Given the description of an element on the screen output the (x, y) to click on. 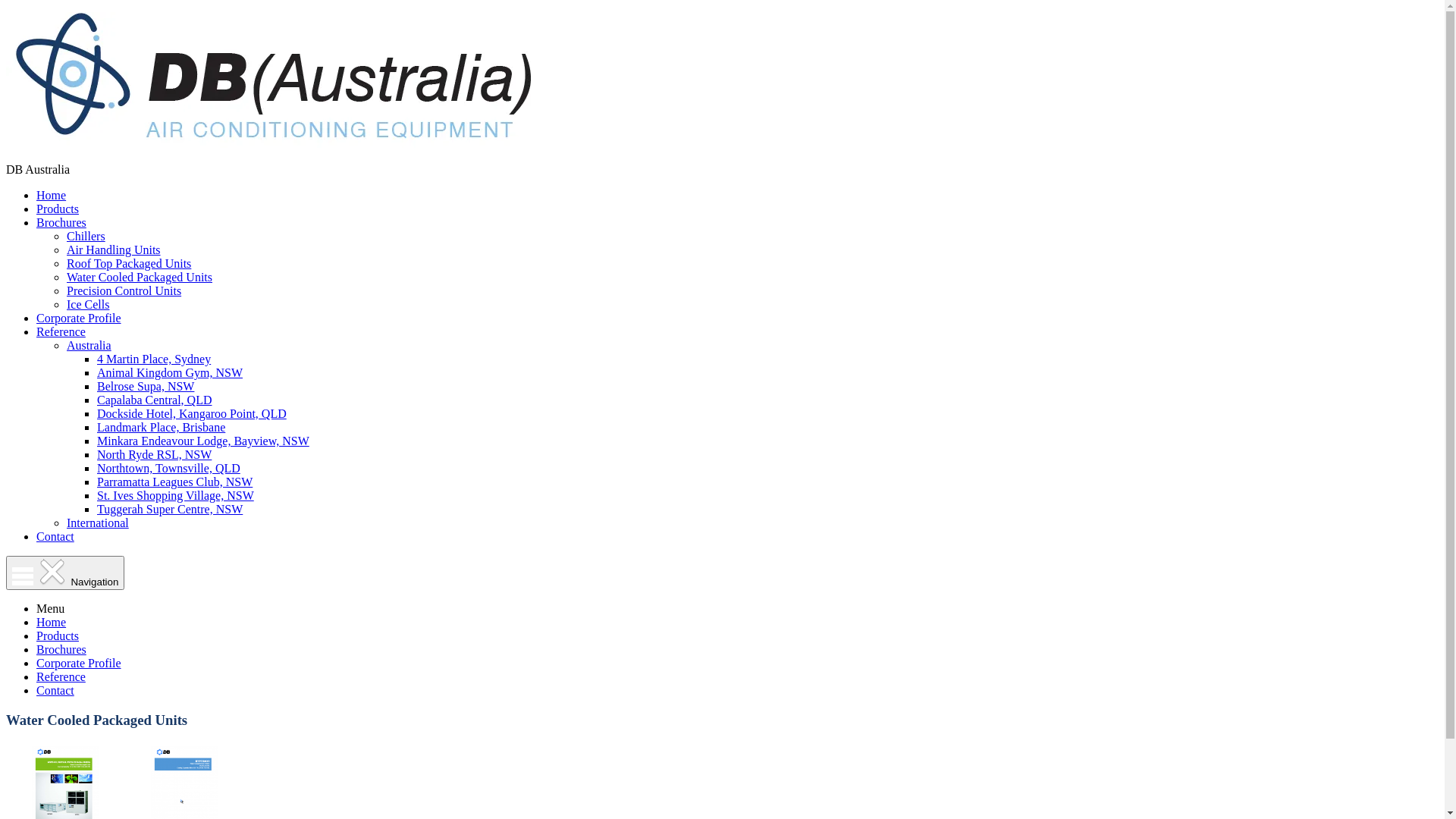
Minkara Endeavour Lodge, Bayview, NSW Element type: text (203, 440)
Home Element type: text (50, 621)
4 Martin Place, Sydney Element type: text (153, 358)
Navigation Element type: text (65, 572)
Contact Element type: text (55, 690)
Roof Top Packaged Units Element type: text (128, 263)
Chillers Element type: text (85, 235)
DB Australia Element type: hover (275, 143)
Contact Element type: text (55, 536)
Reference Element type: text (60, 676)
Parramatta Leagues Club, NSW Element type: text (174, 481)
Corporate Profile Element type: text (78, 317)
International Element type: text (97, 522)
Dockside Hotel, Kangaroo Point, QLD Element type: text (191, 413)
Brochures Element type: text (61, 649)
Precision Control Units Element type: text (123, 290)
Home Element type: text (50, 194)
Animal Kingdom Gym, NSW Element type: text (169, 372)
North Ryde RSL, NSW Element type: text (154, 454)
Products Element type: text (57, 635)
Ice Cells Element type: text (87, 304)
Products Element type: text (57, 208)
Northtown, Townsville, QLD Element type: text (168, 467)
Belrose Supa, NSW Element type: text (145, 385)
Reference Element type: text (60, 331)
St. Ives Shopping Village, NSW Element type: text (175, 495)
Australia Element type: text (88, 344)
Brochures Element type: text (61, 222)
Corporate Profile Element type: text (78, 662)
Landmark Place, Brisbane Element type: text (161, 426)
Capalaba Central, QLD Element type: text (154, 399)
Tuggerah Super Centre, NSW Element type: text (169, 508)
Air Handling Units Element type: text (113, 249)
Water Cooled Packaged Units Element type: text (139, 276)
